Given the description of an element on the screen output the (x, y) to click on. 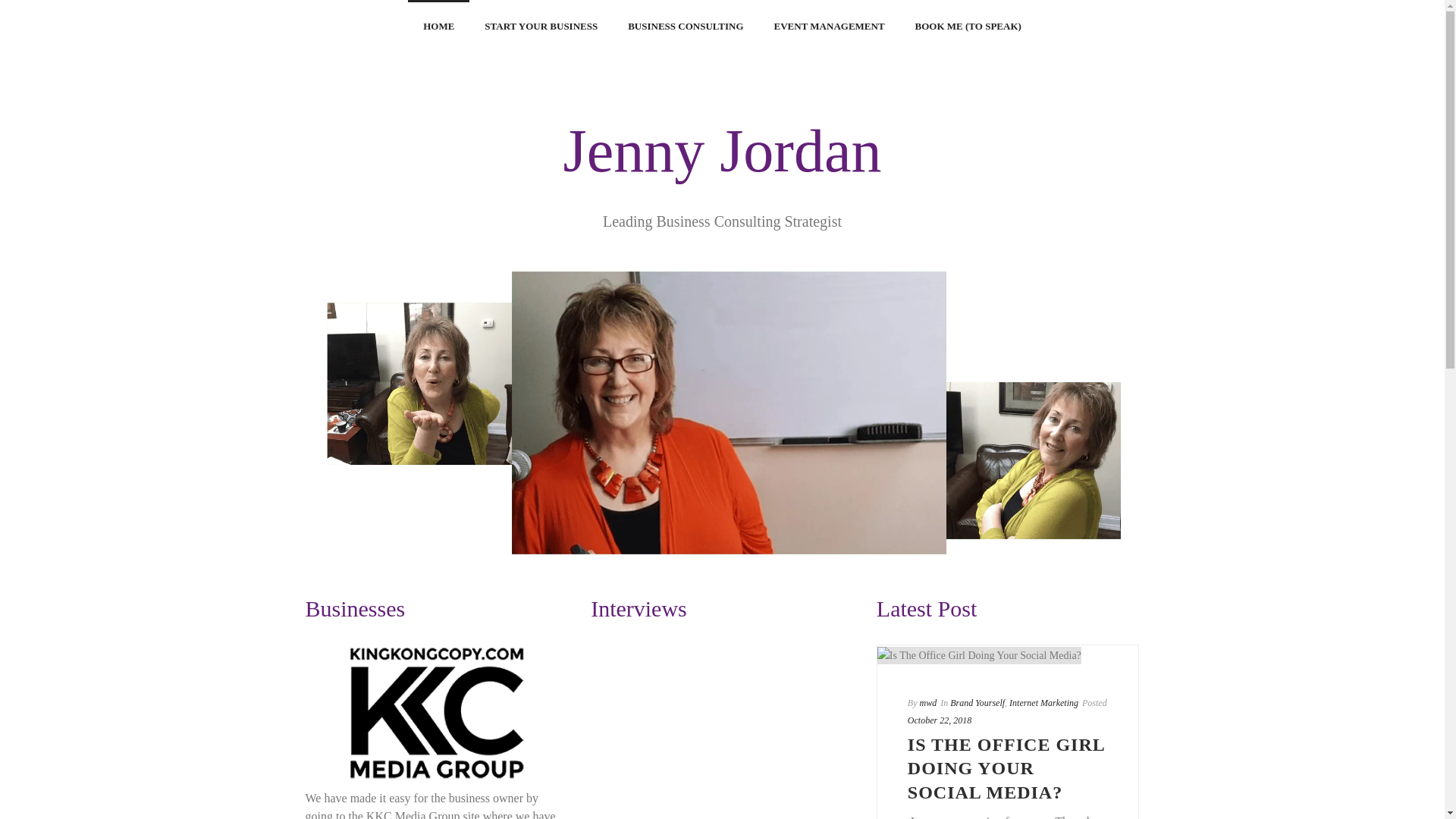
BUSINESS CONSULTING Element type: text (685, 22)
mwd Element type: text (927, 702)
Internet Marketing Element type: text (1043, 702)
October 22, 2018 Element type: text (939, 720)
banner1 Element type: hover (722, 415)
Is The Office Girl Doing Your Social Media? Element type: hover (979, 655)
EVENT MANAGEMENT Element type: text (829, 22)
20181022-kkc Element type: hover (436, 712)
Is The Office Girl Doing Your Social Media? Element type: hover (1008, 654)
BOOK ME (TO SPEAK) Element type: text (968, 22)
Brand Yourself Element type: text (977, 702)
START YOUR BUSINESS Element type: text (540, 22)
IS THE OFFICE GIRL DOING YOUR SOCIAL MEDIA? Element type: text (1005, 767)
  Element type: text (1008, 654)
HOME Element type: text (438, 22)
